Given the description of an element on the screen output the (x, y) to click on. 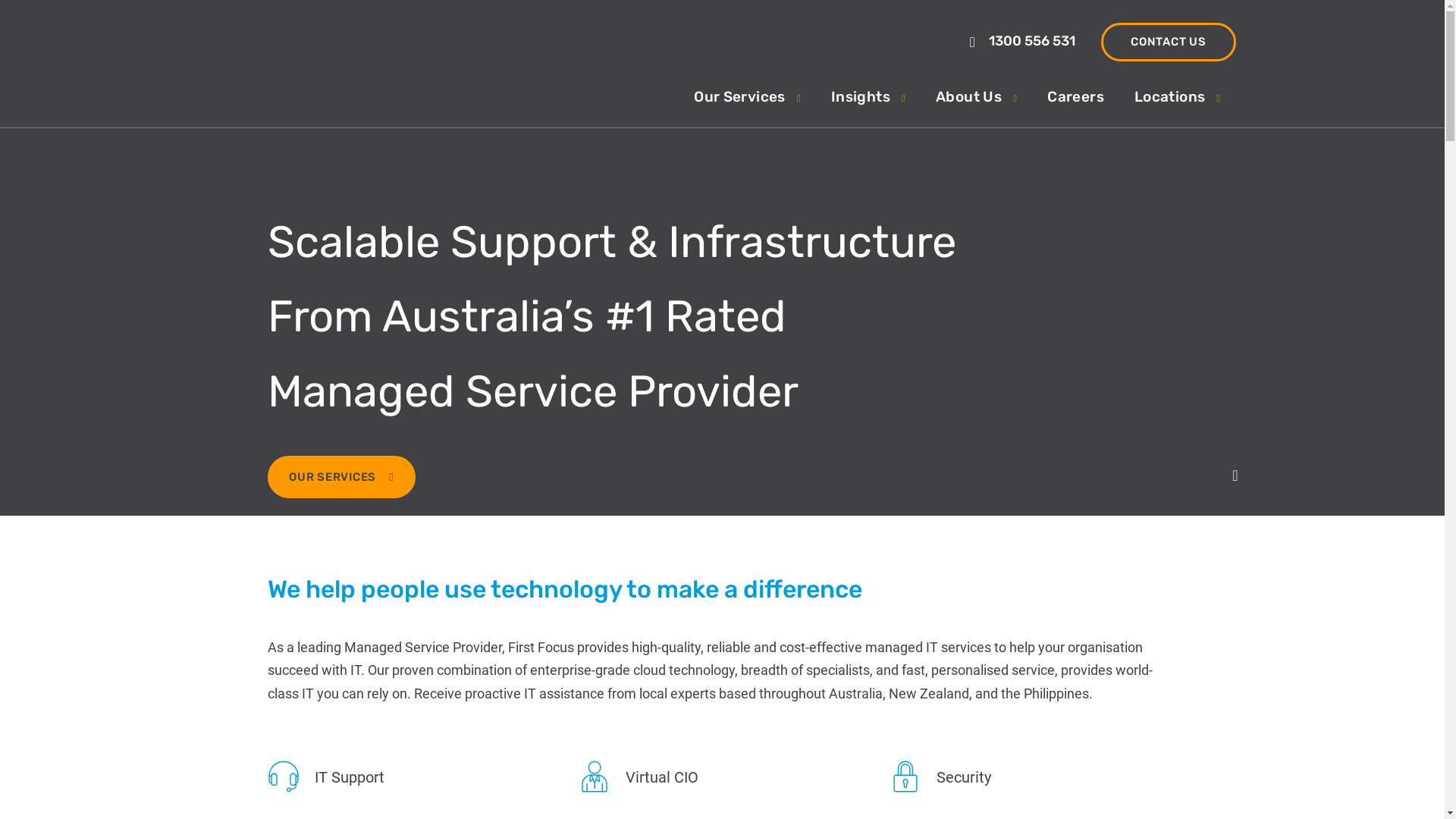
Insights Element type: text (867, 105)
Our Services Element type: text (746, 105)
Careers Element type: text (1075, 105)
About Us Element type: text (976, 105)
Virtual CIO Element type: text (637, 777)
CONTACT US Element type: text (1168, 41)
Security Element type: text (939, 777)
1300 556 531 Element type: text (1023, 40)
IT Support Element type: text (324, 777)
Locations Element type: text (1177, 105)
OUR SERVICES Element type: text (340, 476)
